Given the description of an element on the screen output the (x, y) to click on. 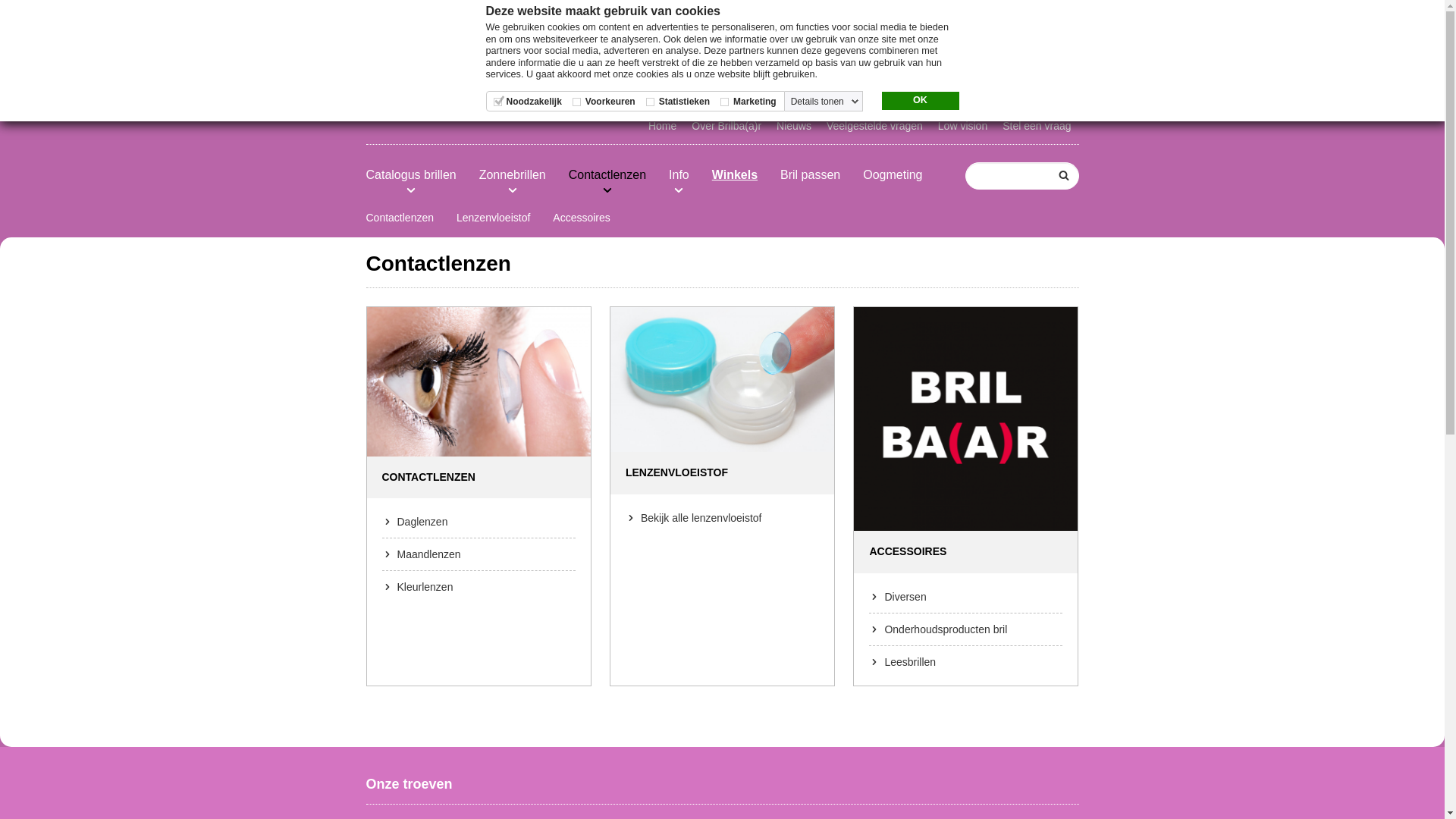
Maandlenzen Element type: text (478, 554)
Zonnebrillen Element type: text (512, 174)
Stel een vraag Element type: text (1036, 125)
Maak een afspraak Element type: text (810, 68)
OK Element type: text (919, 100)
Over Brilba(a)r Element type: text (726, 125)
Accessoires Element type: text (580, 217)
Catalogus brillen Element type: text (410, 174)
Leesbrillen Element type: text (965, 661)
Info Element type: text (678, 174)
Onderhoudsproducten bril Element type: text (965, 629)
Oogmeting Element type: text (892, 174)
Contactlenzen Element type: text (399, 217)
Zorgba(a)r Element type: text (861, 15)
Contactlenzen Element type: text (607, 174)
Apot(h)eek Element type: text (1048, 15)
Hoorba(a)r Element type: text (927, 15)
Lenzenvloeistof Element type: text (493, 217)
Details tonen Element type: text (824, 101)
Diversen Element type: text (965, 596)
Inloggen Element type: text (913, 68)
Brilba(a)r Element type: text (989, 15)
Nieuws Element type: text (793, 125)
Kleurlenzen Element type: text (478, 586)
Daglenzen Element type: text (478, 521)
Veelgestelde vragen Element type: text (874, 125)
Winkels Element type: text (734, 174)
Bril passen Element type: text (810, 174)
Low vision Element type: text (962, 125)
Home Element type: text (662, 125)
Bekijk alle lenzenvloeistof Element type: text (722, 517)
